Given the description of an element on the screen output the (x, y) to click on. 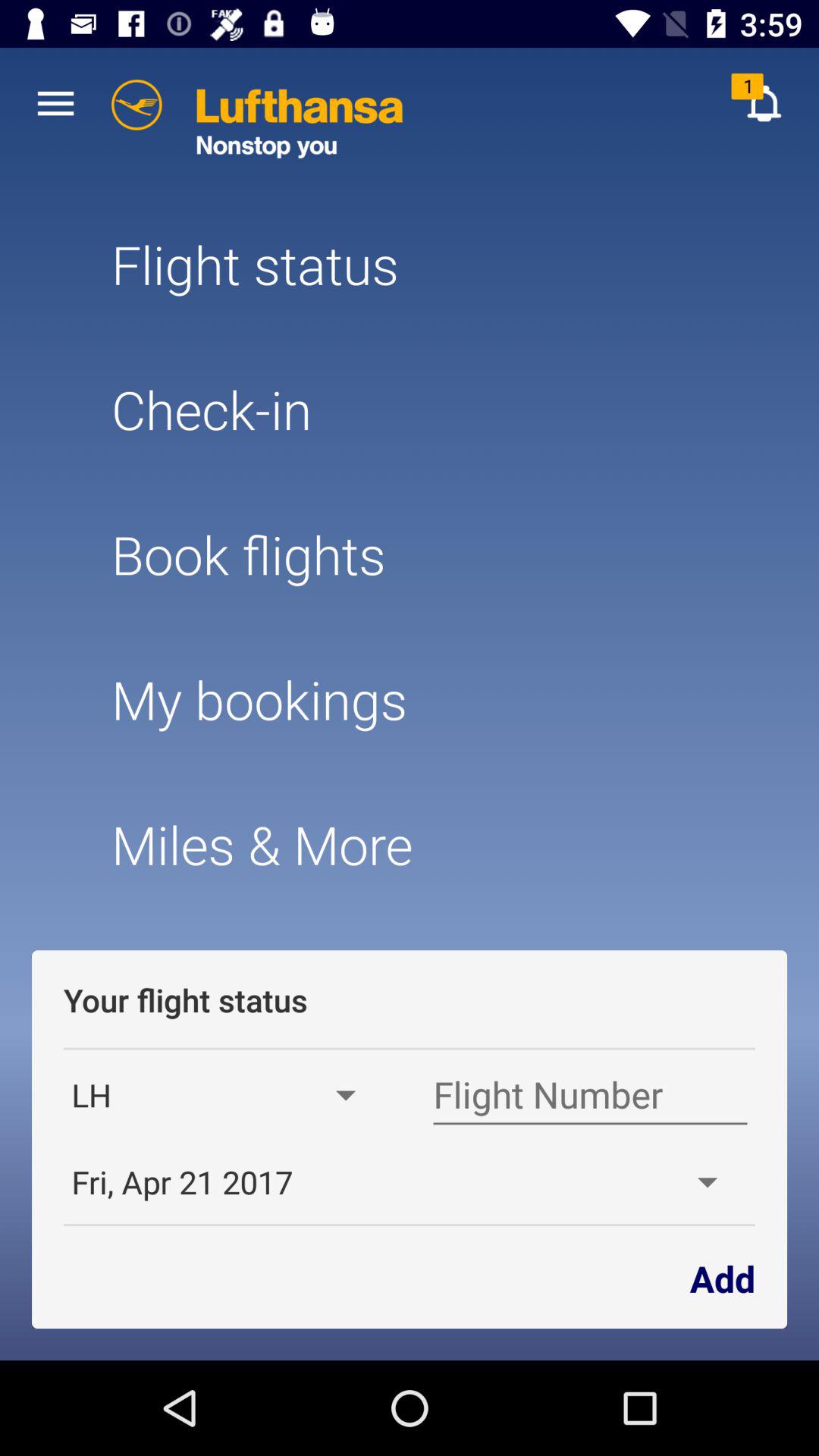
click icon to the right of fri apr 21 app (722, 1277)
